Given the description of an element on the screen output the (x, y) to click on. 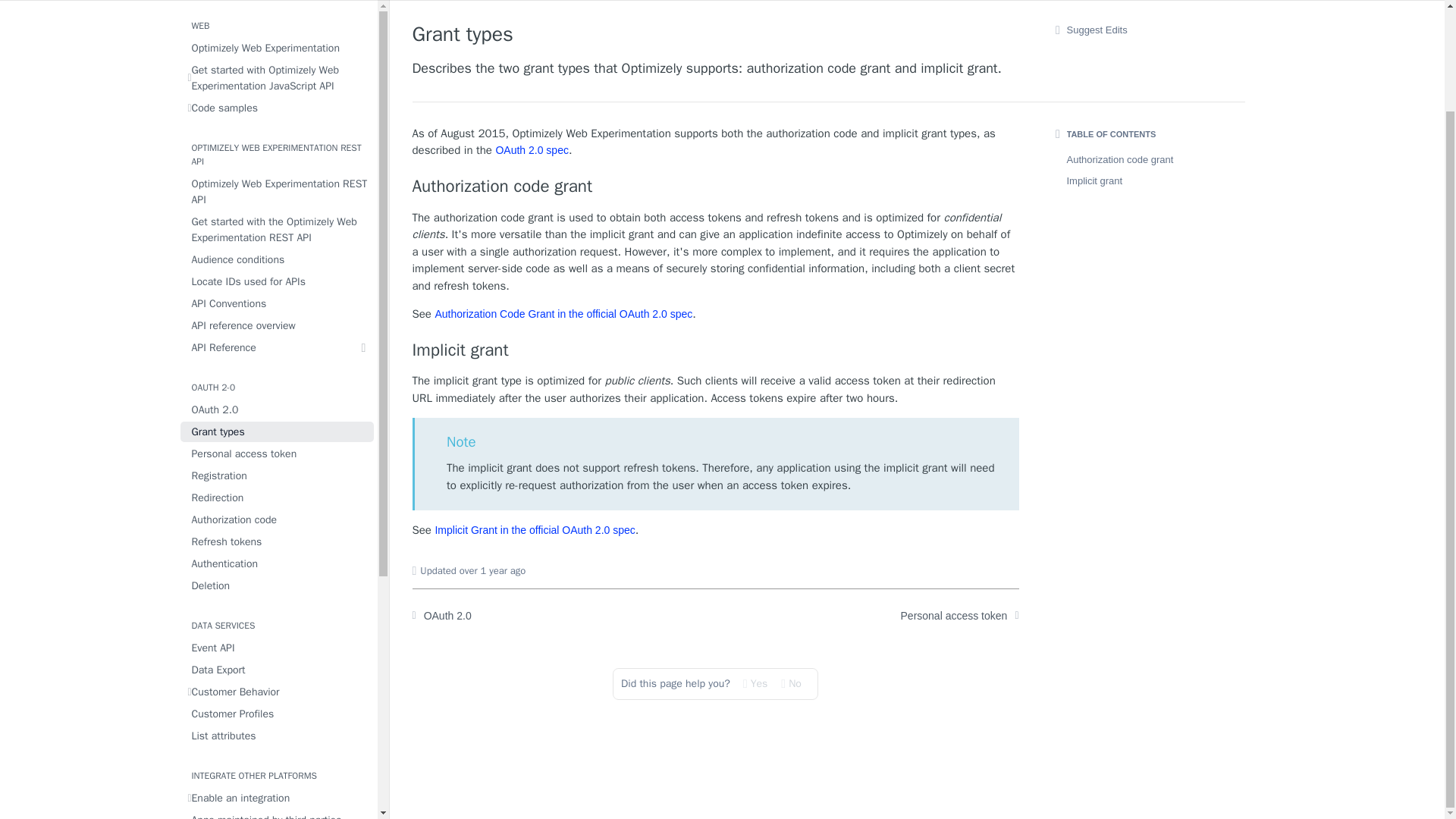
Authorization code grant (715, 186)
Optimizely Web Experimentation (277, 47)
Code samples (277, 107)
Implicit grant (715, 350)
